Given the description of an element on the screen output the (x, y) to click on. 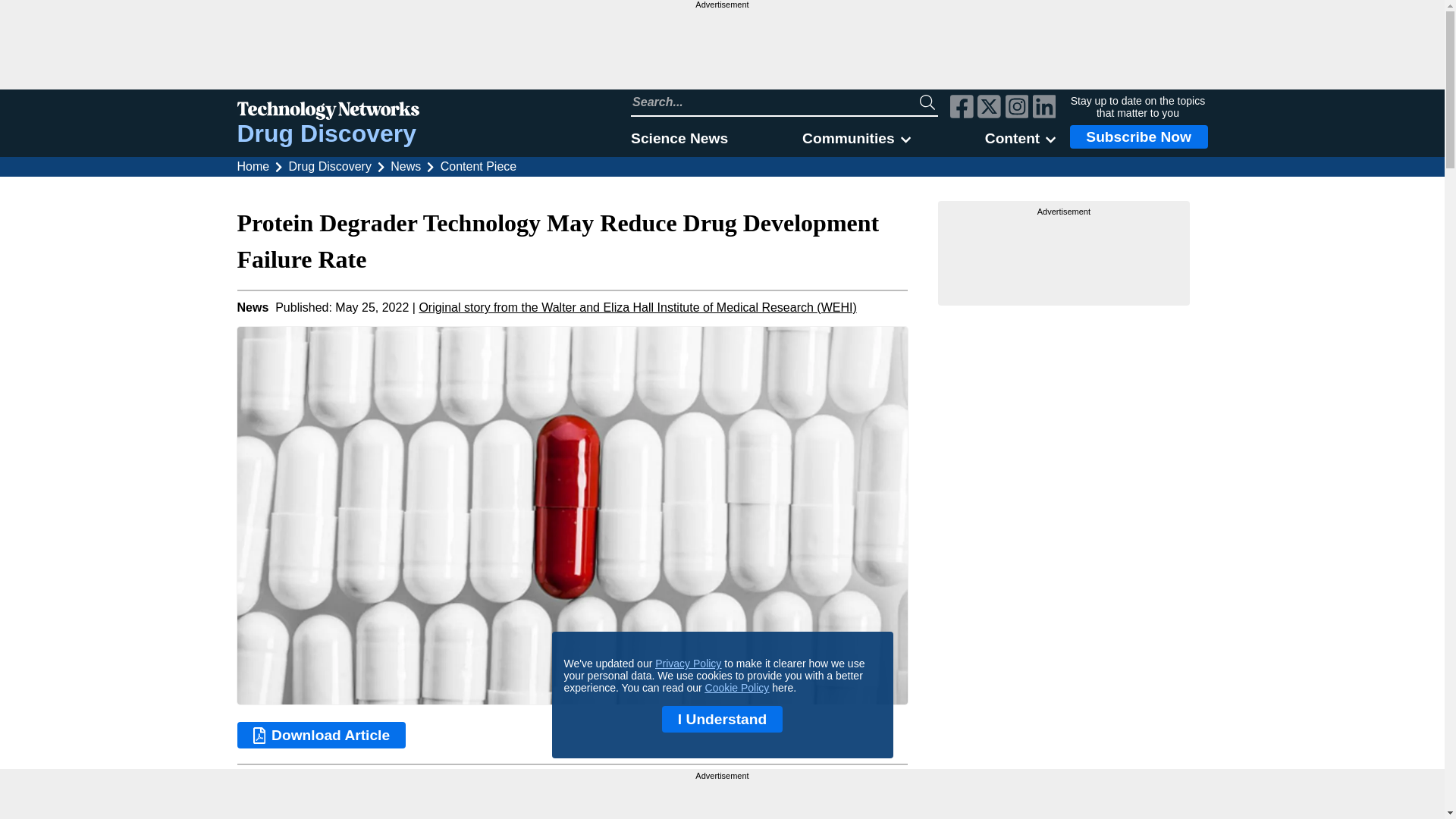
Search Technology Networks website input field (775, 102)
Privacy Policy (687, 663)
Cookie Policy (737, 687)
Technology Networks logo (327, 112)
Click here to visit the original source for this content. (637, 307)
I Understand (722, 718)
